Given the description of an element on the screen output the (x, y) to click on. 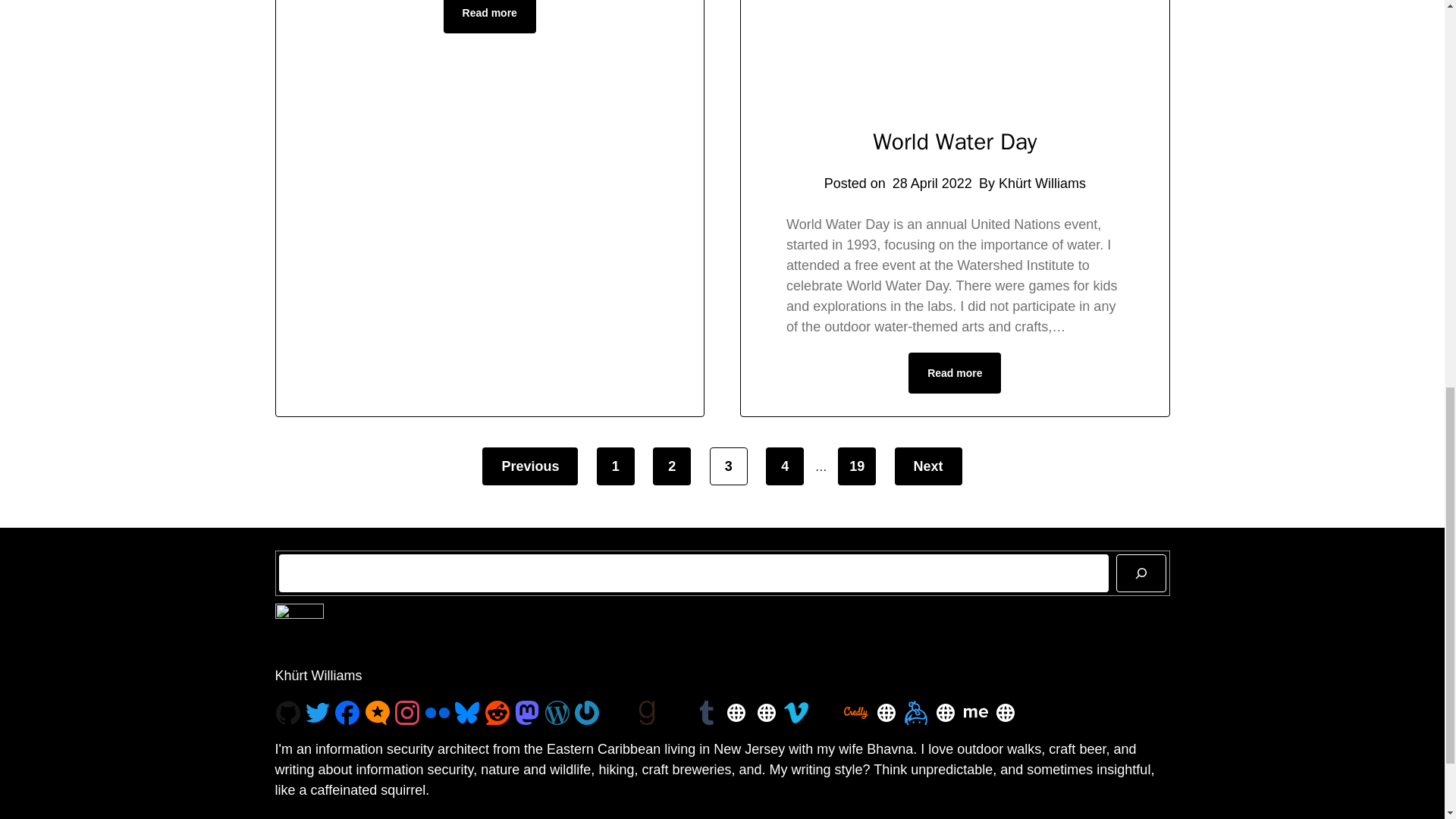
Instagram (406, 712)
Reddit (496, 712)
1 (615, 466)
Unsplash (616, 712)
Twitter (317, 712)
Vimeo (796, 712)
VSCO (675, 712)
2 (671, 466)
Bluesky (466, 712)
GitHub (287, 712)
